Given the description of an element on the screen output the (x, y) to click on. 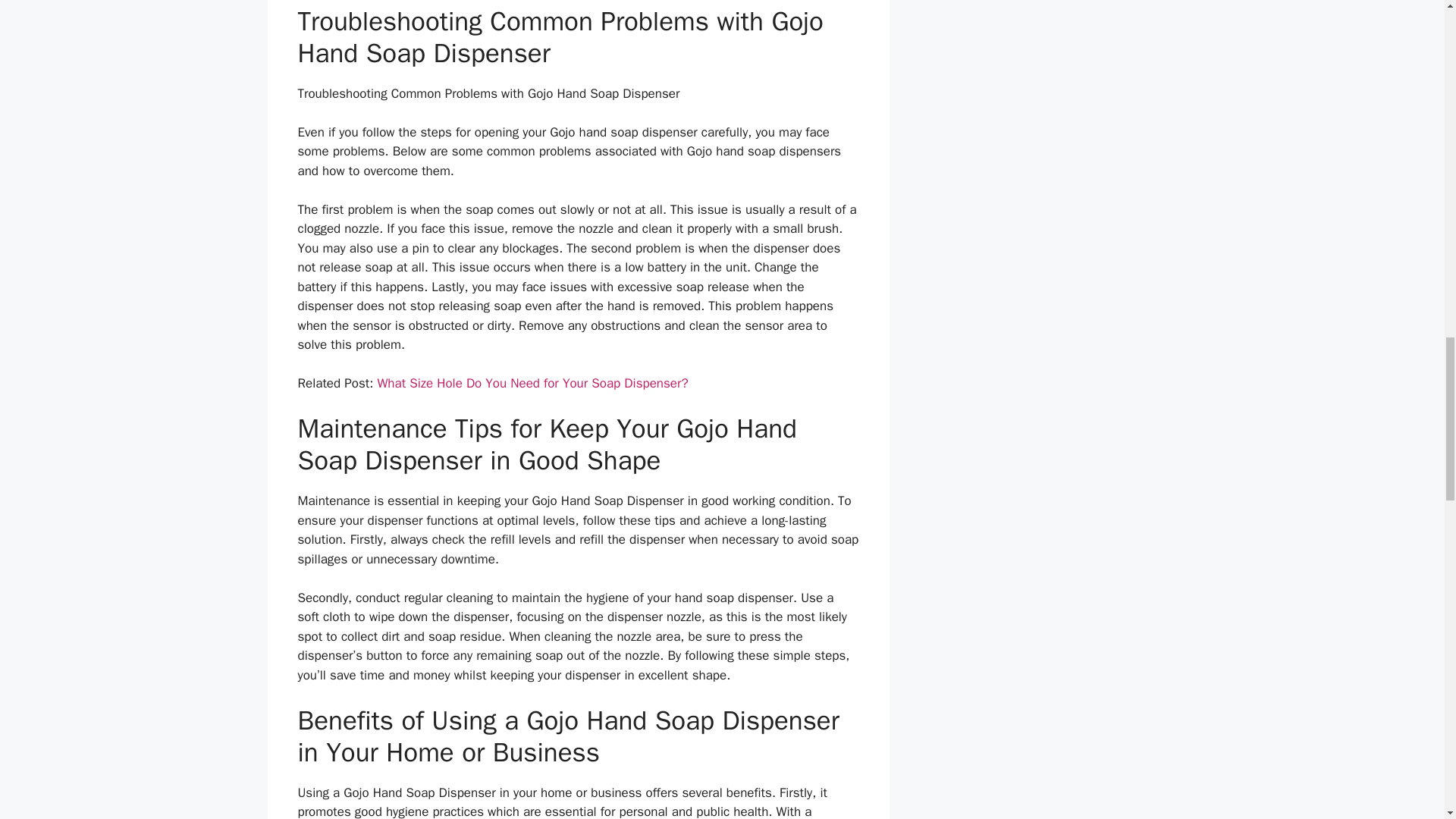
What Size Hole Do You Need for Your Soap Dispenser? (532, 383)
